Given the description of an element on the screen output the (x, y) to click on. 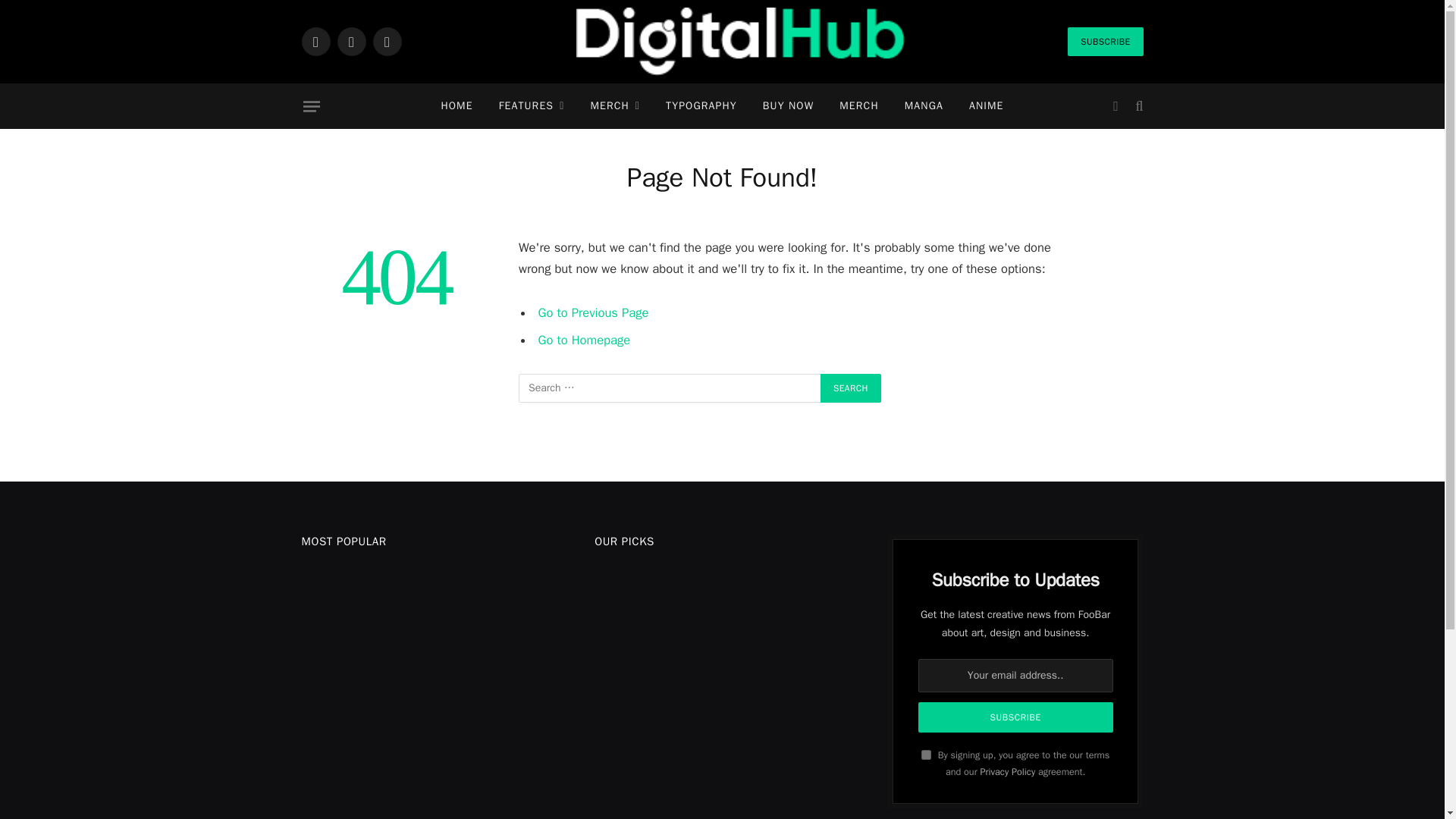
Search (850, 387)
Instagram (386, 41)
MERCH (859, 105)
Go to Previous Page (593, 312)
MERCH (614, 105)
Go to Homepage (584, 340)
BUY NOW (788, 105)
on (926, 755)
SUBSCRIBE (1104, 41)
Facebook (315, 41)
TYPOGRAPHY (700, 105)
Search (850, 387)
Privacy Policy (1007, 771)
Search (850, 387)
Switch to Dark Design - easier on eyes. (1115, 106)
